Given the description of an element on the screen output the (x, y) to click on. 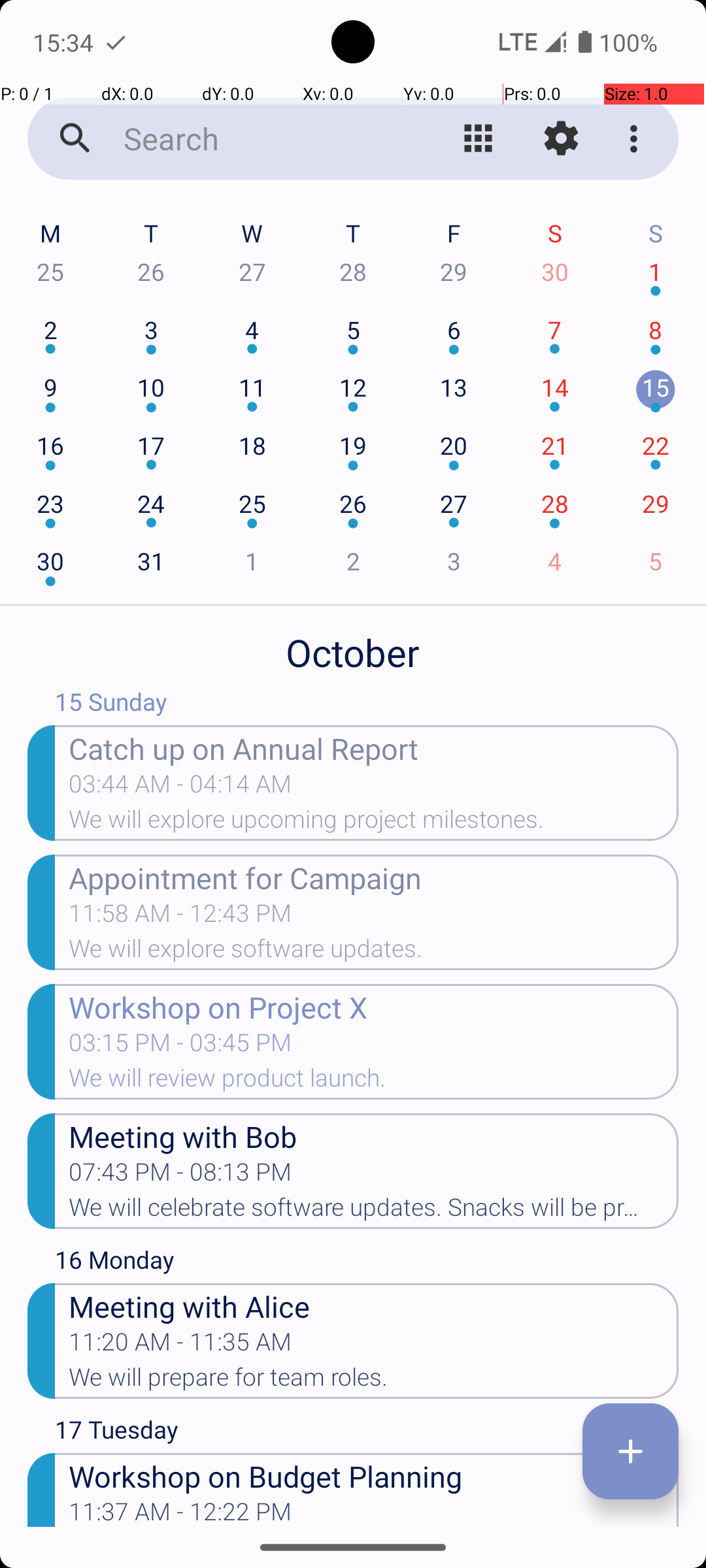
03:44 AM - 04:14 AM Element type: android.widget.TextView (179, 787)
We will explore upcoming project milestones. Element type: android.widget.TextView (373, 822)
11:58 AM - 12:43 PM Element type: android.widget.TextView (179, 916)
We will explore software updates. Element type: android.widget.TextView (373, 952)
03:15 PM - 03:45 PM Element type: android.widget.TextView (179, 1046)
We will review product launch. Element type: android.widget.TextView (373, 1081)
07:43 PM - 08:13 PM Element type: android.widget.TextView (179, 1175)
We will celebrate software updates. Snacks will be provided. Element type: android.widget.TextView (373, 1210)
Meeting with Alice Element type: android.widget.TextView (373, 1305)
11:20 AM - 11:35 AM Element type: android.widget.TextView (179, 1345)
We will prepare for team roles. Element type: android.widget.TextView (373, 1380)
11:37 AM - 12:22 PM Element type: android.widget.TextView (179, 1512)
